Given the description of an element on the screen output the (x, y) to click on. 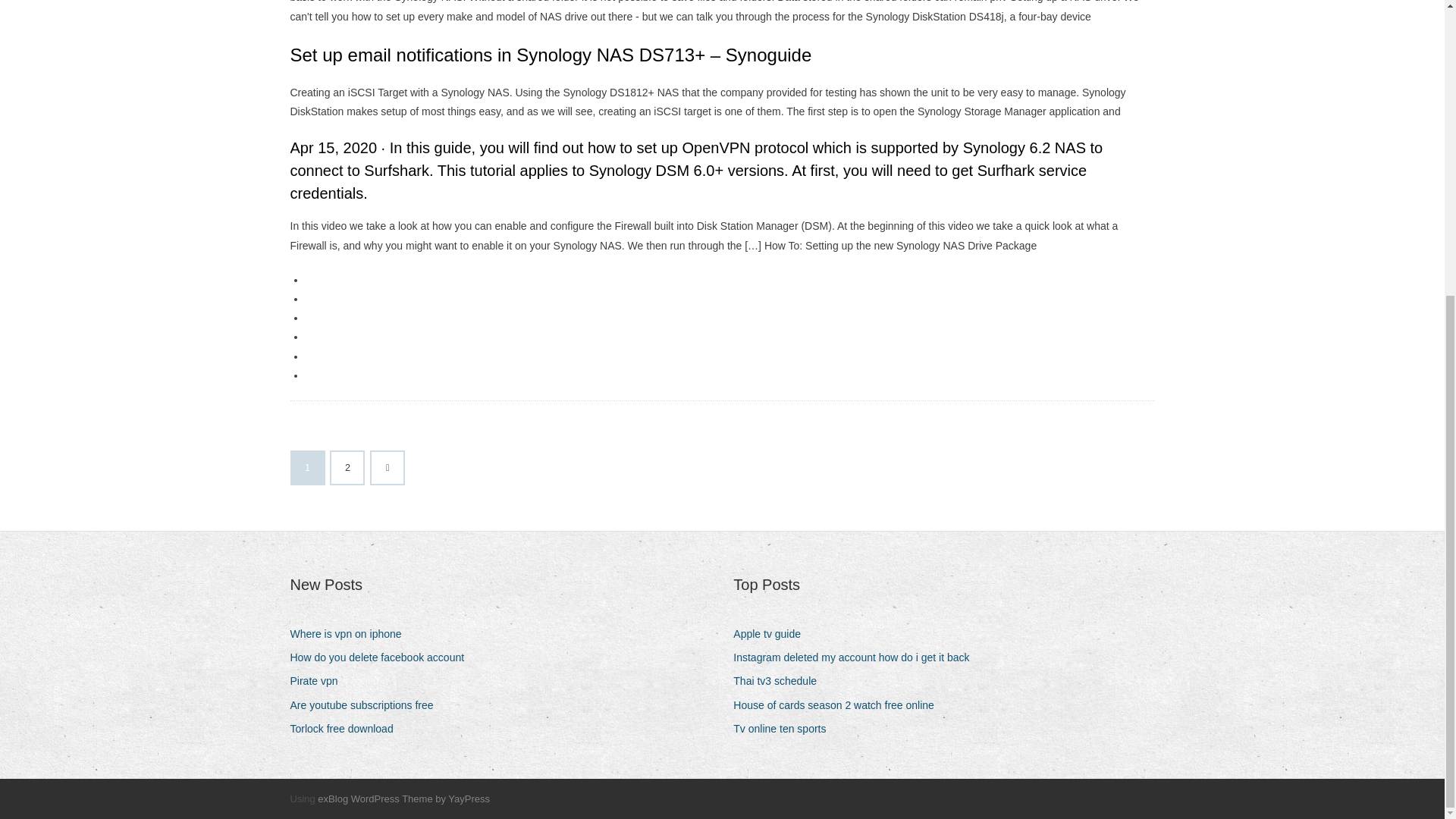
House of cards season 2 watch free online (838, 705)
Instagram deleted my account how do i get it back (856, 657)
Apple tv guide (772, 634)
How do you delete facebook account (382, 657)
Tv online ten sports (785, 729)
Where is vpn on iphone (350, 634)
2 (346, 468)
Are youtube subscriptions free (366, 705)
exBlog WordPress Theme by YayPress (403, 798)
Pirate vpn (319, 680)
Thai tv3 schedule (780, 680)
Torlock free download (346, 729)
